Given the description of an element on the screen output the (x, y) to click on. 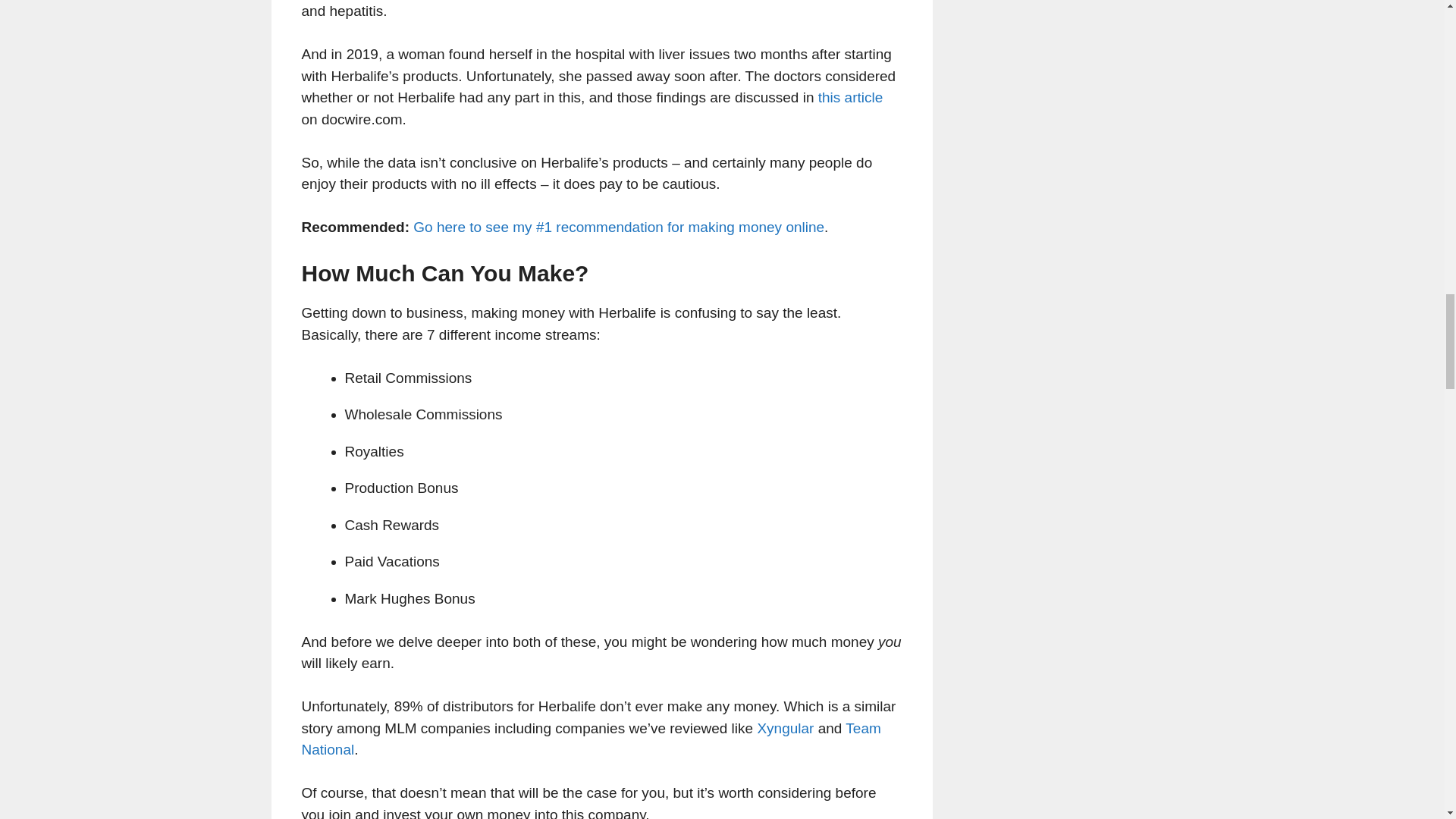
Team National (590, 739)
this article (850, 97)
Xyngular (785, 728)
